Given the description of an element on the screen output the (x, y) to click on. 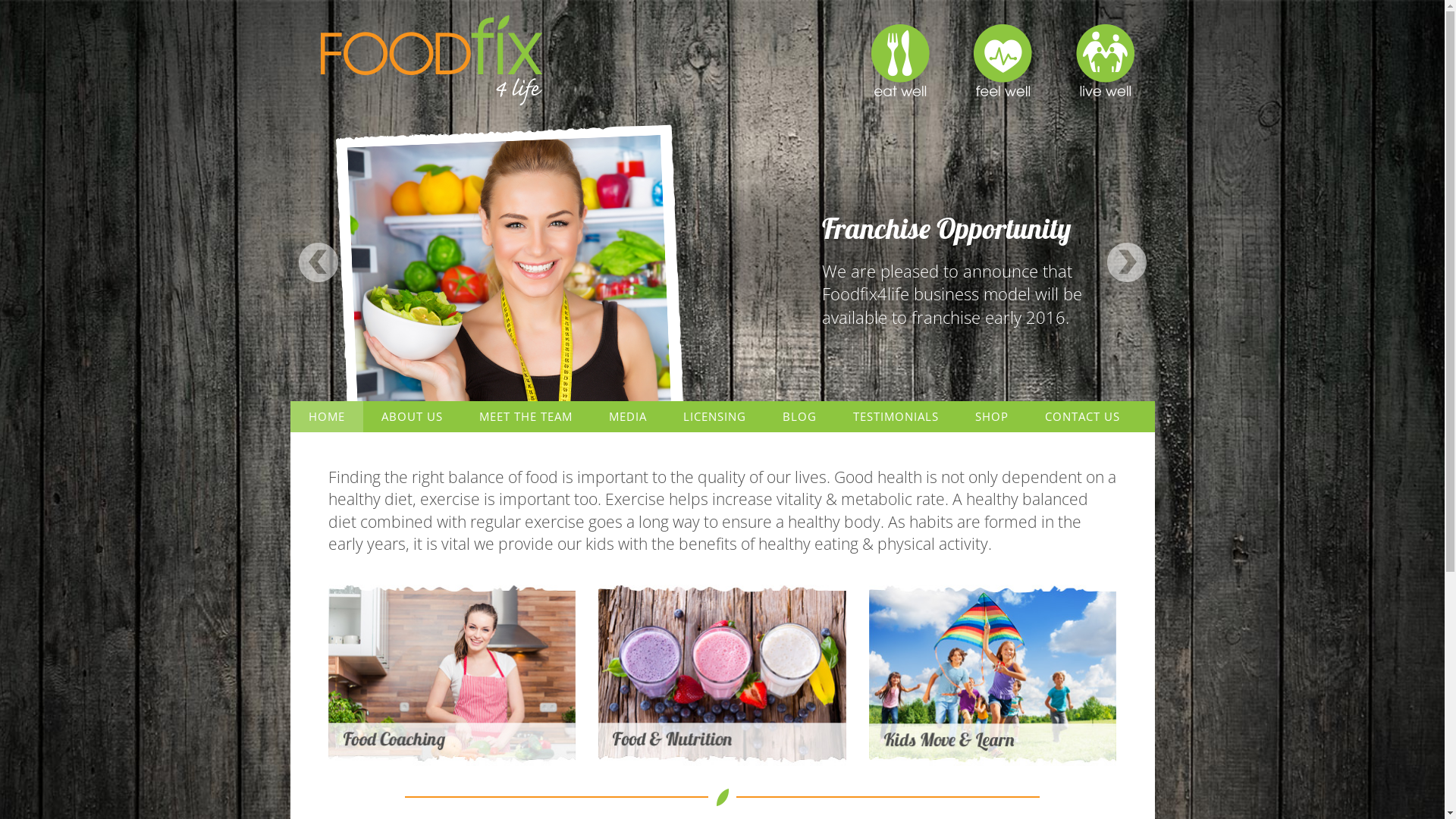
TESTIMONIALS Element type: text (895, 416)
MEDIA Element type: text (626, 416)
SHOP Element type: text (991, 416)
CONTACT US Element type: text (1082, 416)
HOME Element type: text (325, 416)
BLOG Element type: text (799, 416)
MEET THE TEAM Element type: text (525, 416)
LICENSING Element type: text (713, 416)
ABOUT US Element type: text (411, 416)
